Given the description of an element on the screen output the (x, y) to click on. 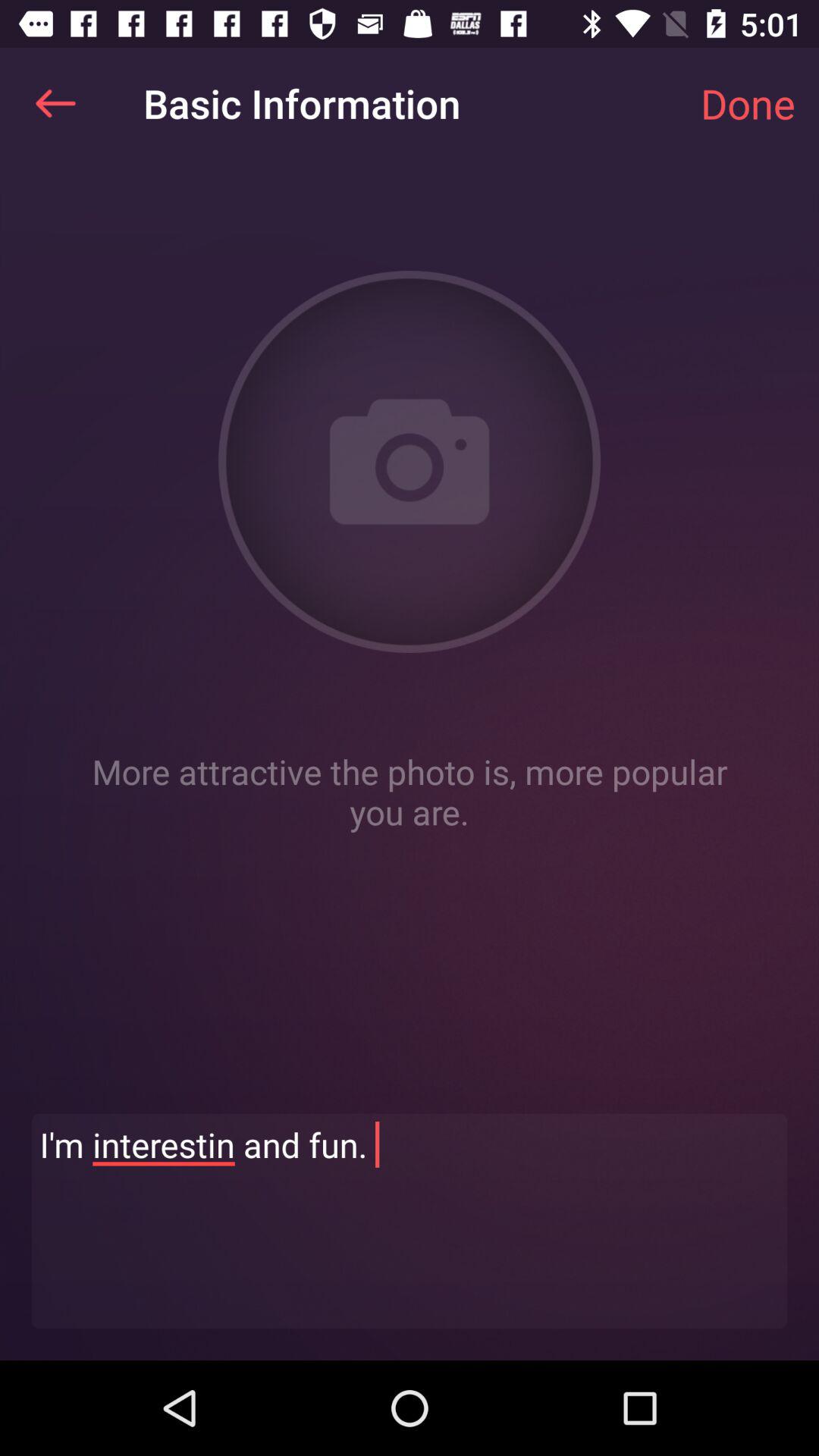
open the icon next to basic information item (55, 103)
